Given the description of an element on the screen output the (x, y) to click on. 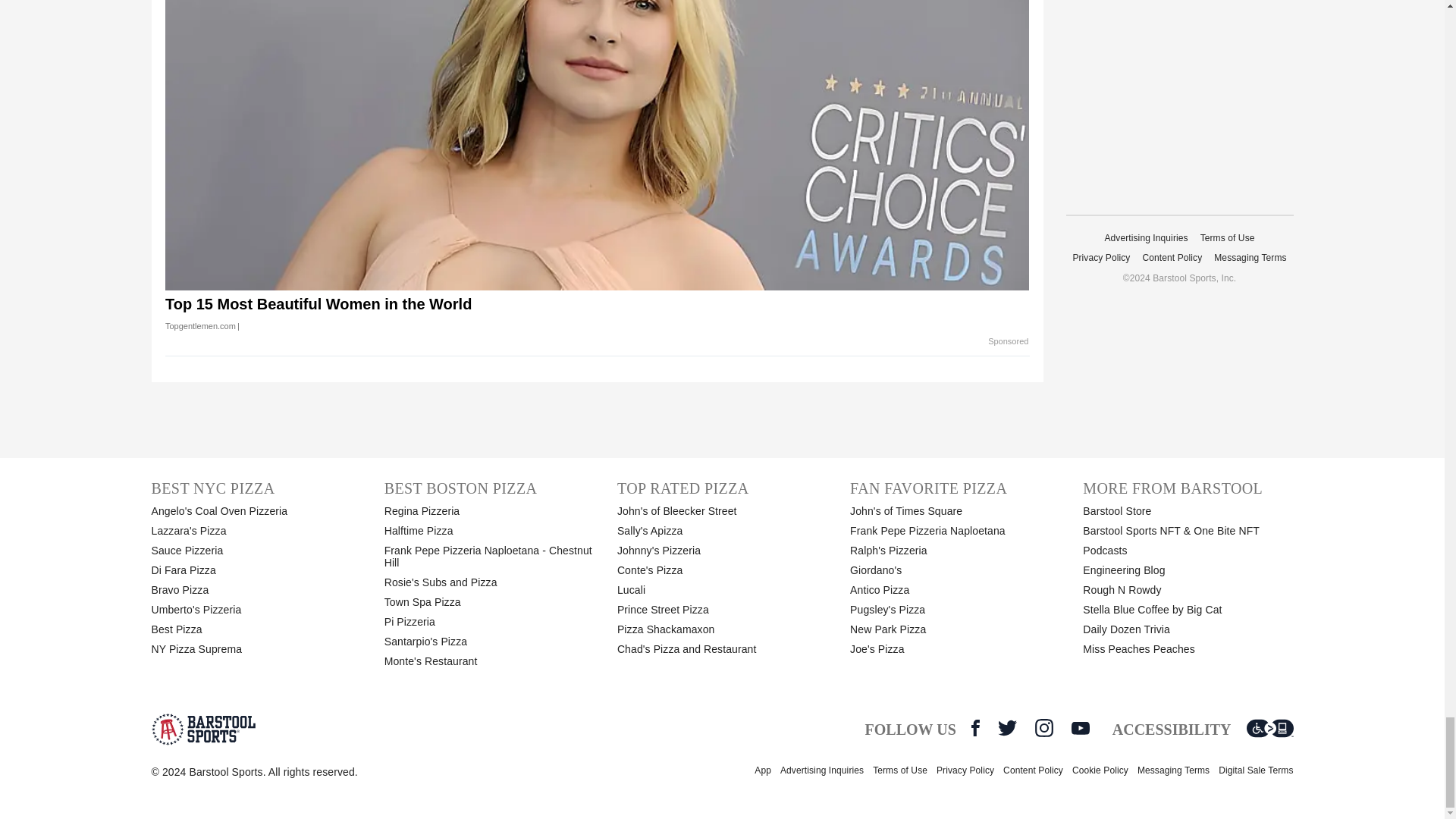
Instagram Icon (1043, 728)
YouTube Icon (1080, 728)
Twitter Icon (1006, 728)
Level Access website accessibility icon (1270, 728)
